Given the description of an element on the screen output the (x, y) to click on. 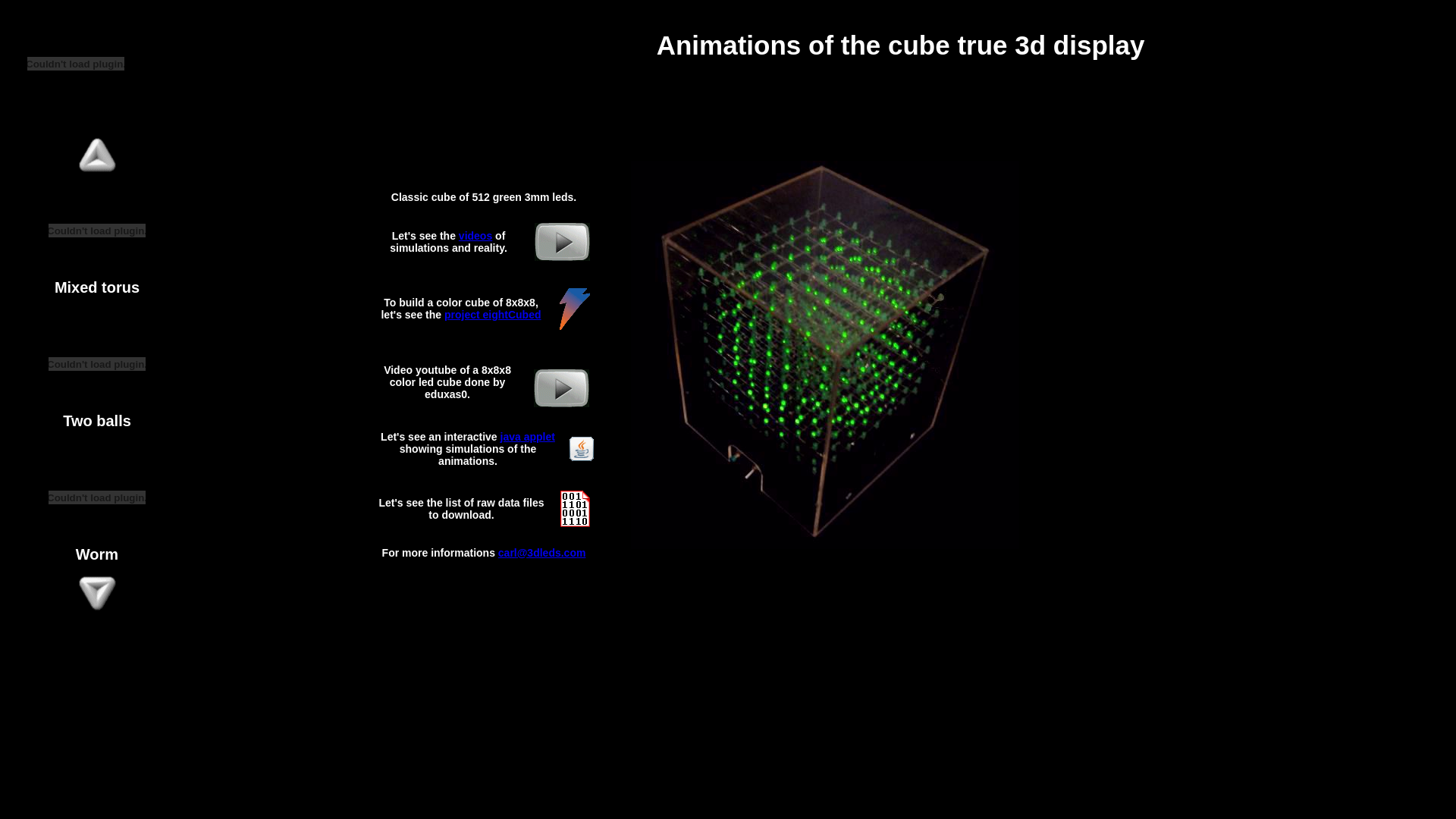
return to main page of 3dleds.com Element type: hover (75, 103)
Interactive java applet 3d viewer of simulations Element type: hover (581, 456)
project eightCubed Element type: text (492, 314)
Video of these animations inside eduxas0 s device Element type: hover (561, 403)
java applet Element type: text (527, 436)
Two balls Element type: hover (96, 407)
Videos of simulations and reality views Element type: hover (561, 256)
Interactive java applet 3d viewer of simulations Element type: hover (581, 448)
Mixed torus Element type: hover (96, 274)
Page of downloads Element type: hover (574, 523)
Let's see the Videos of simulations and reality. Element type: hover (824, 354)
Worm Element type: hover (96, 541)
Page of downloads. Element type: hover (574, 507)
carl@3dleds.com Element type: text (542, 552)
videos Element type: text (475, 235)
